Given the description of an element on the screen output the (x, y) to click on. 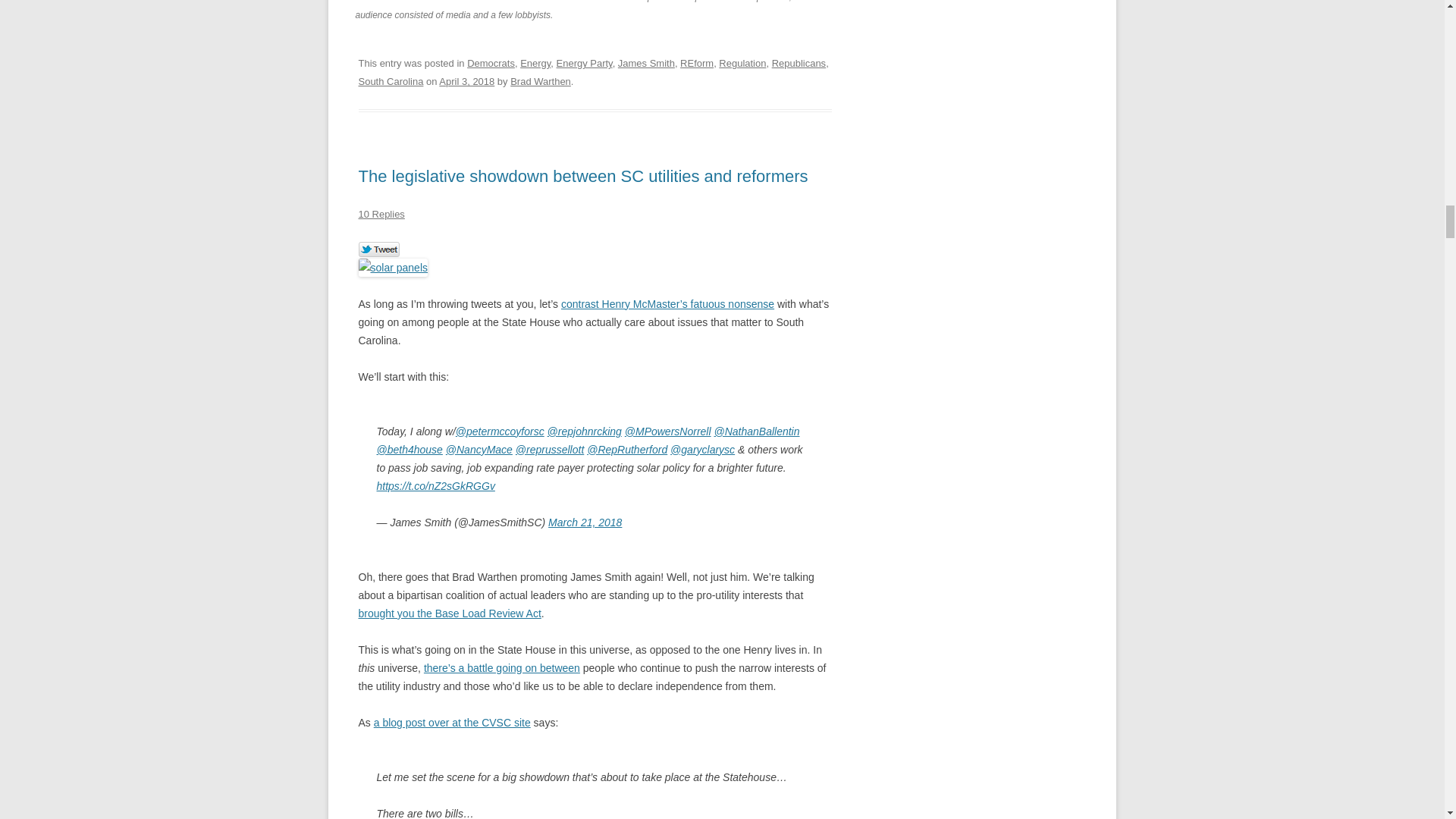
1:07 pm (467, 81)
View all posts by Brad Warthen (540, 81)
